Given the description of an element on the screen output the (x, y) to click on. 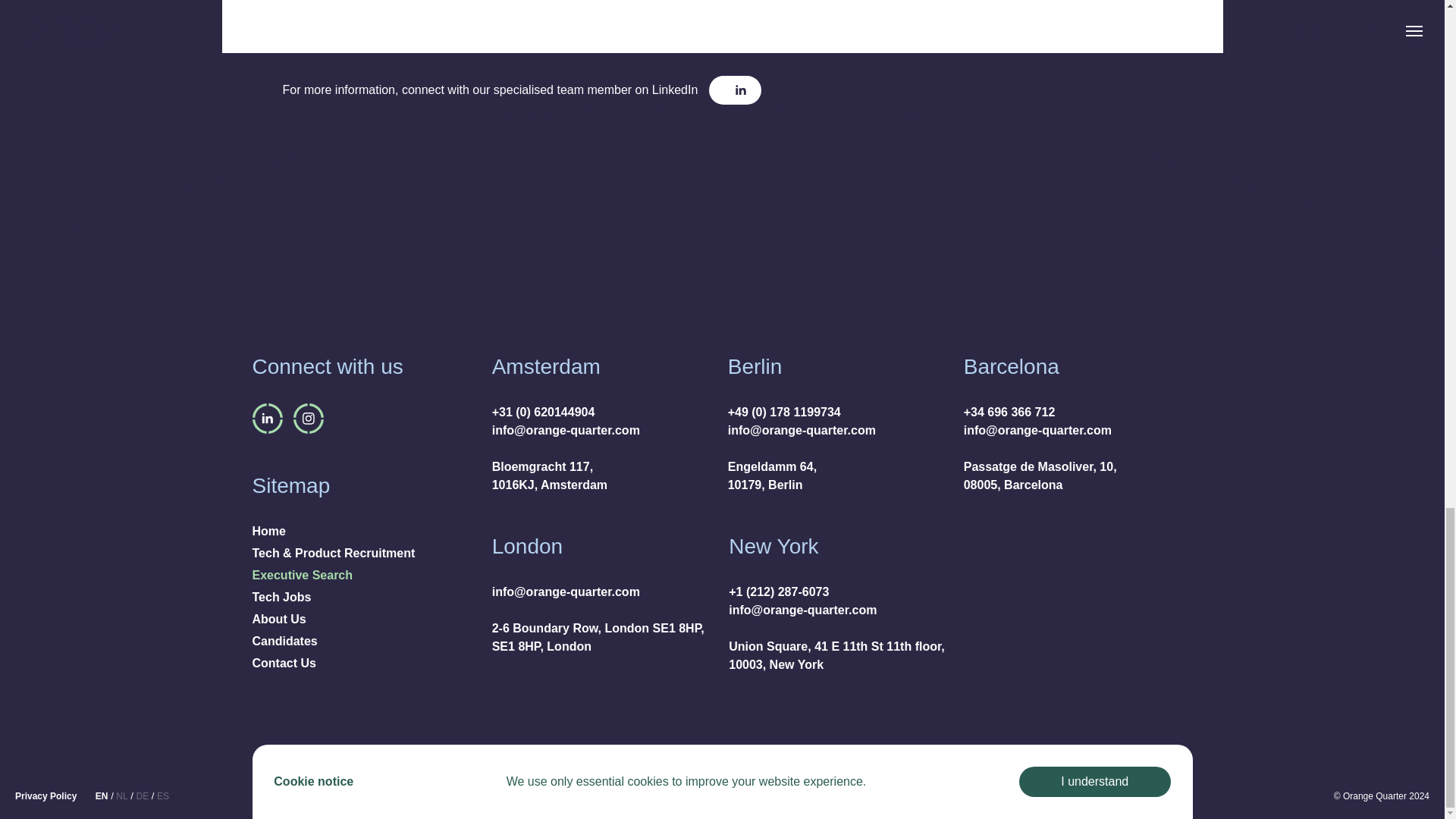
Home (268, 531)
Executive Search (301, 575)
Contact Us (283, 663)
About Us (278, 619)
Tech Jobs (281, 597)
Candidates (284, 641)
